Given the description of an element on the screen output the (x, y) to click on. 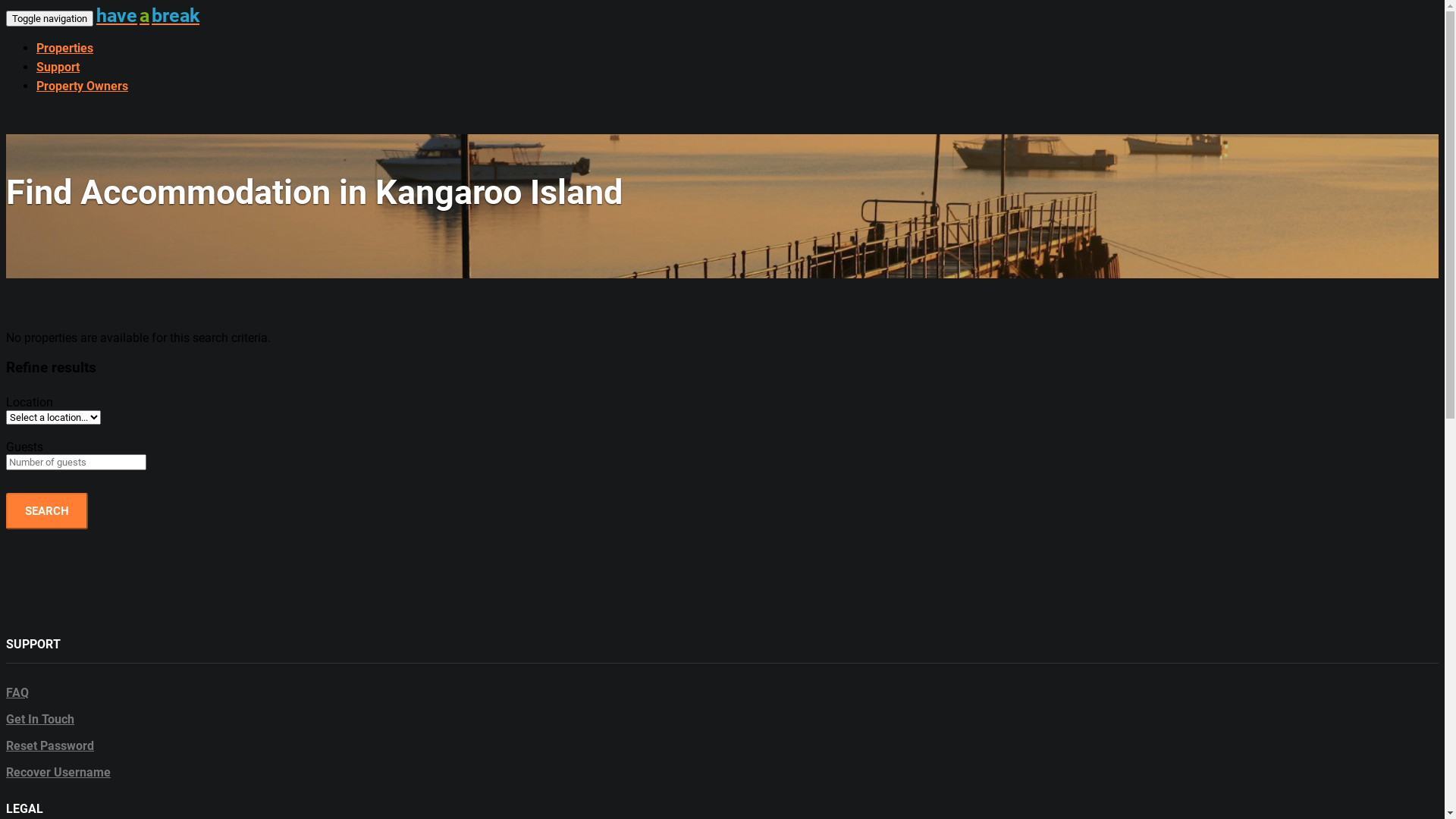
Support Element type: text (57, 66)
Properties Element type: text (64, 47)
Recover Username Element type: text (58, 772)
Toggle navigation Element type: text (49, 18)
SEARCH Element type: text (46, 510)
haveabreak Element type: text (148, 15)
Reset Password Element type: text (50, 745)
Property Owners Element type: text (82, 85)
FAQ Element type: text (17, 692)
Get In Touch Element type: text (40, 719)
